Given the description of an element on the screen output the (x, y) to click on. 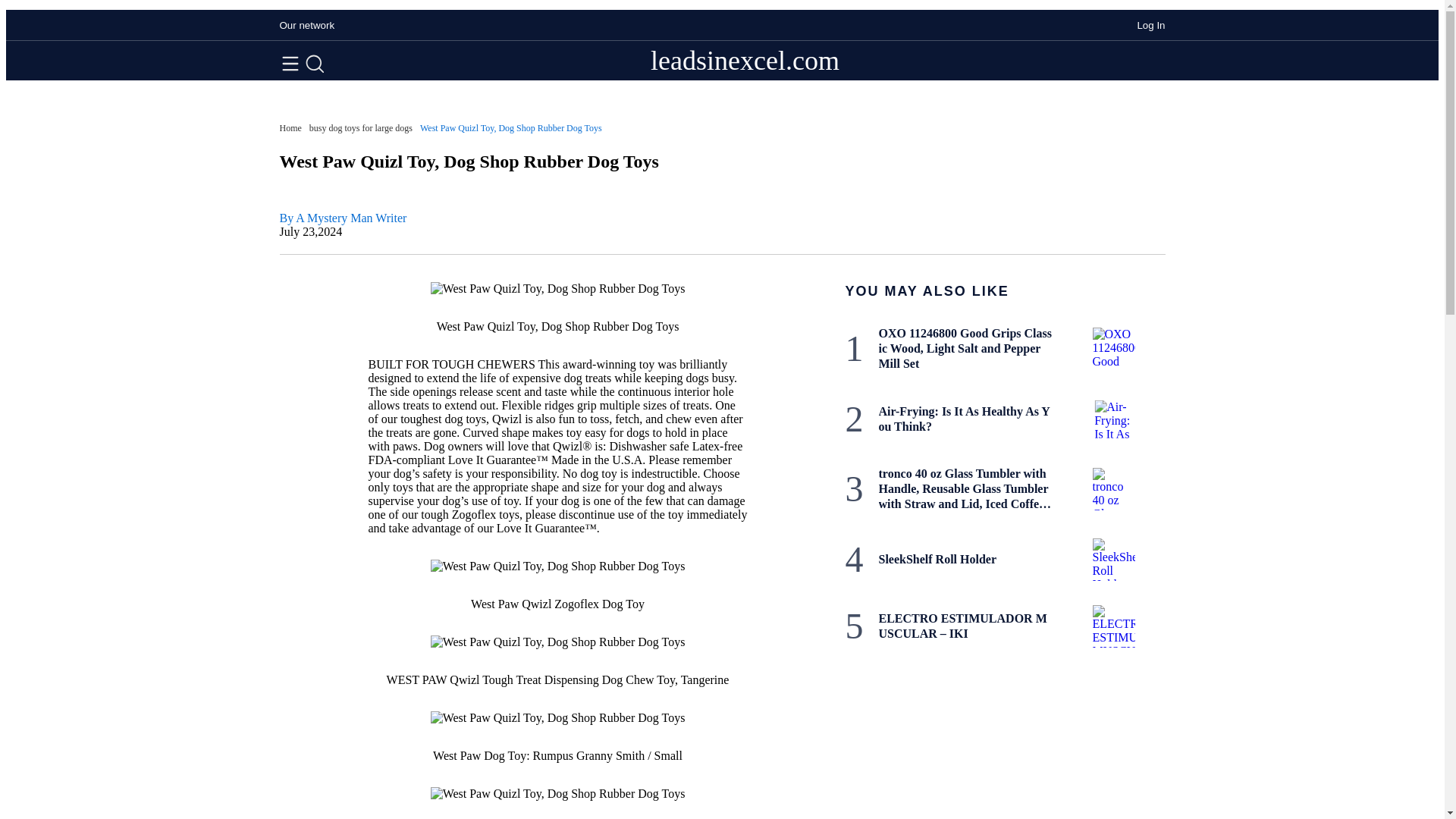
West Paw Quizl Toy, Dog Shop Rubber Dog Toys (511, 127)
By A Mystery Man Writer (342, 217)
Log In (1150, 25)
Air-Frying: Is It As Healthy As You Think? (964, 419)
Home (290, 127)
busy dog toys for large dogs (360, 127)
leadsinexcel.com (745, 60)
Home (290, 127)
By A Mystery Man Writer (342, 217)
Our network (306, 25)
West Paw Quizl Toy, Dog Shop Rubber Dog Toys (511, 127)
SleekShelf Roll Holder (964, 559)
busy dog toys for large dogs (360, 127)
